Given the description of an element on the screen output the (x, y) to click on. 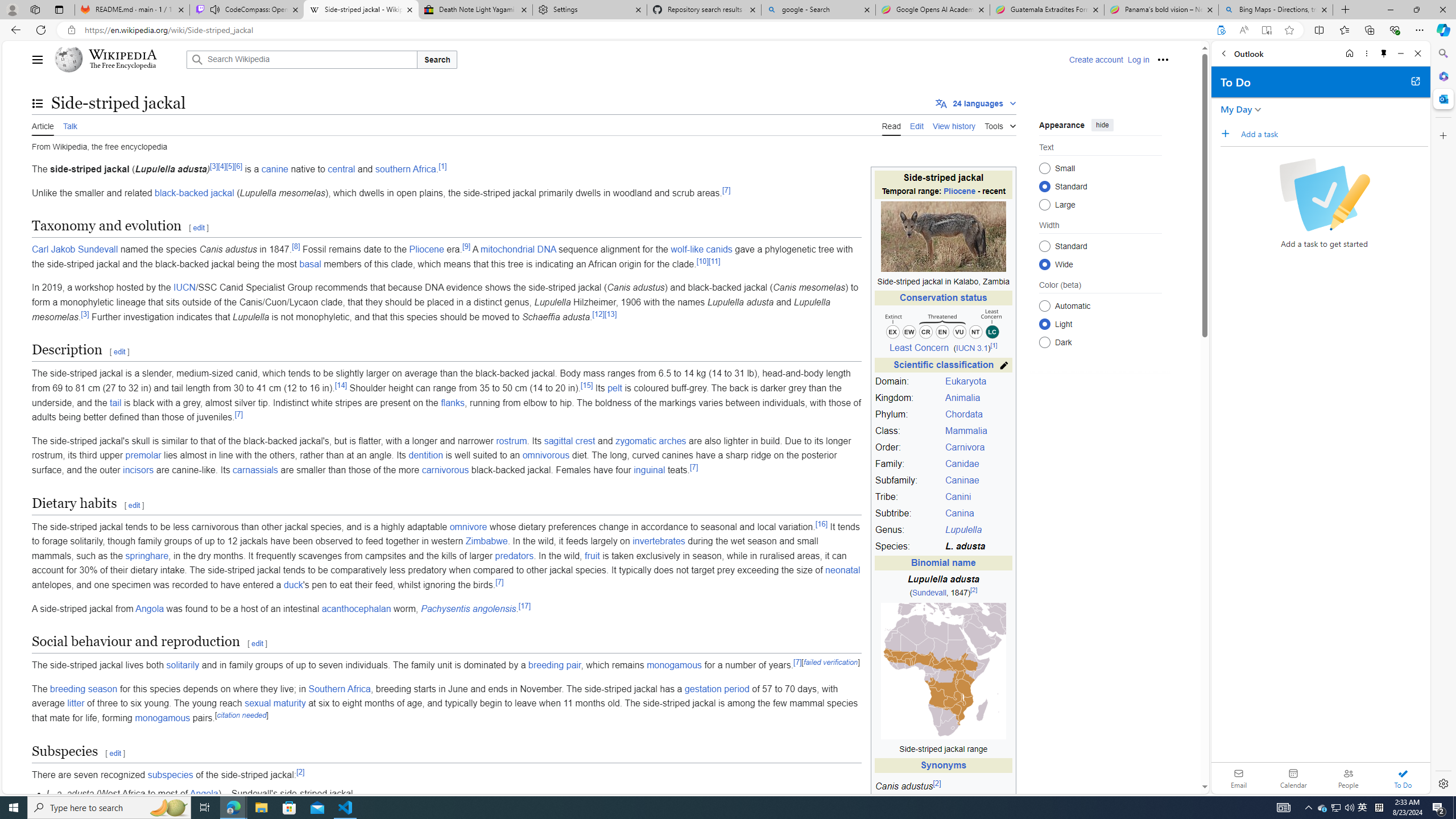
Southern Africa (339, 688)
Class: mw-file-element (943, 670)
Least Concern (919, 347)
[8] (295, 245)
Search Wikipedia (301, 59)
Read (890, 124)
Phylum: (908, 414)
premolar (143, 455)
wolf-like canids (701, 249)
Class: mw-file-description (943, 670)
